Given the description of an element on the screen output the (x, y) to click on. 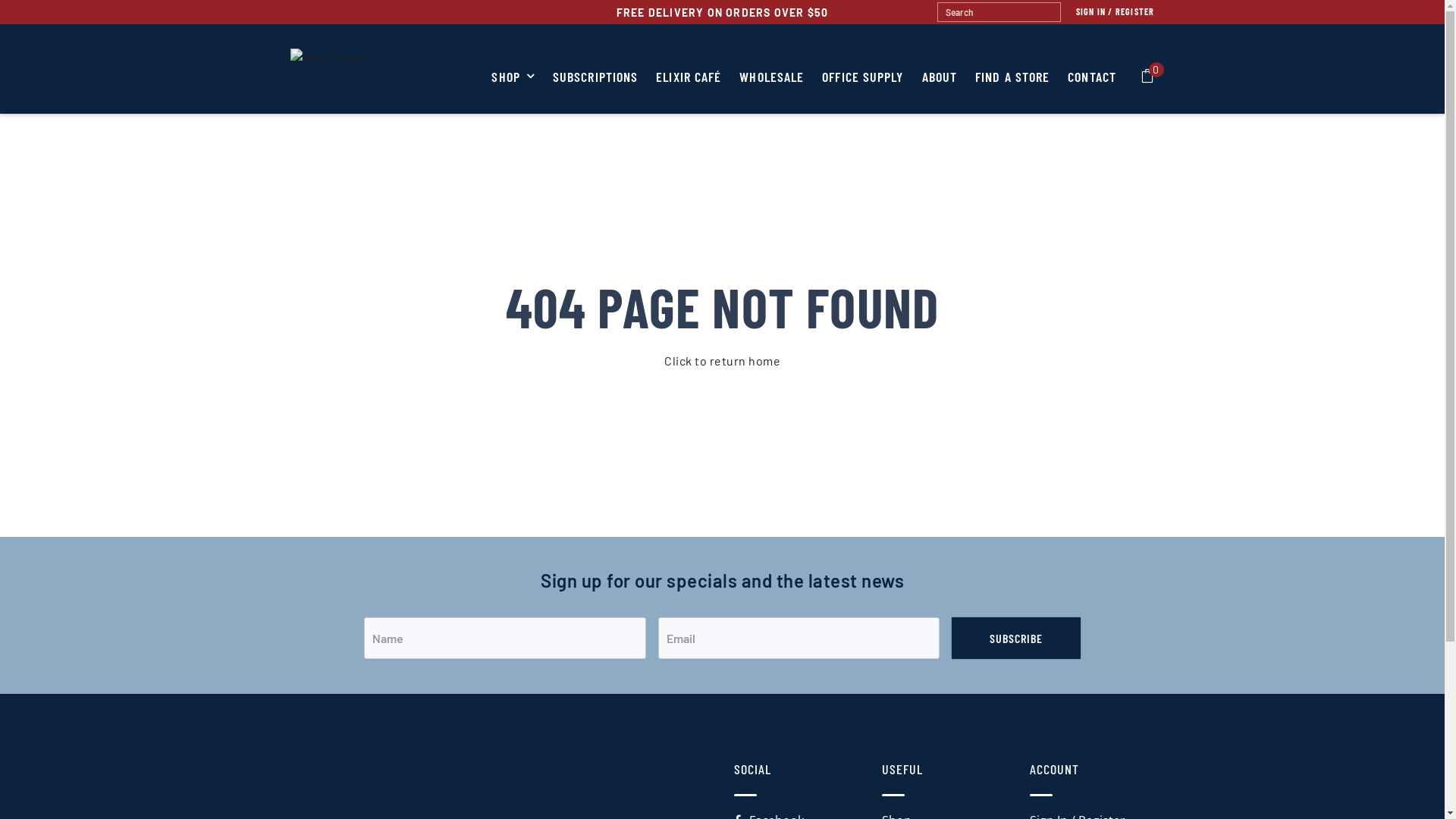
Click to return home Element type: text (722, 360)
0 Element type: text (1147, 76)
ABOUT Element type: text (939, 80)
SIGN IN / REGISTER Element type: text (1107, 11)
Subscribe Element type: text (1015, 637)
FIND A STORE Element type: text (1012, 80)
OFFICE SUPPLY Element type: text (862, 80)
WHOLESALE Element type: text (771, 80)
SUBSCRIPTIONS Element type: text (594, 80)
CONTACT Element type: text (1087, 80)
SHOP Element type: text (517, 80)
